Given the description of an element on the screen output the (x, y) to click on. 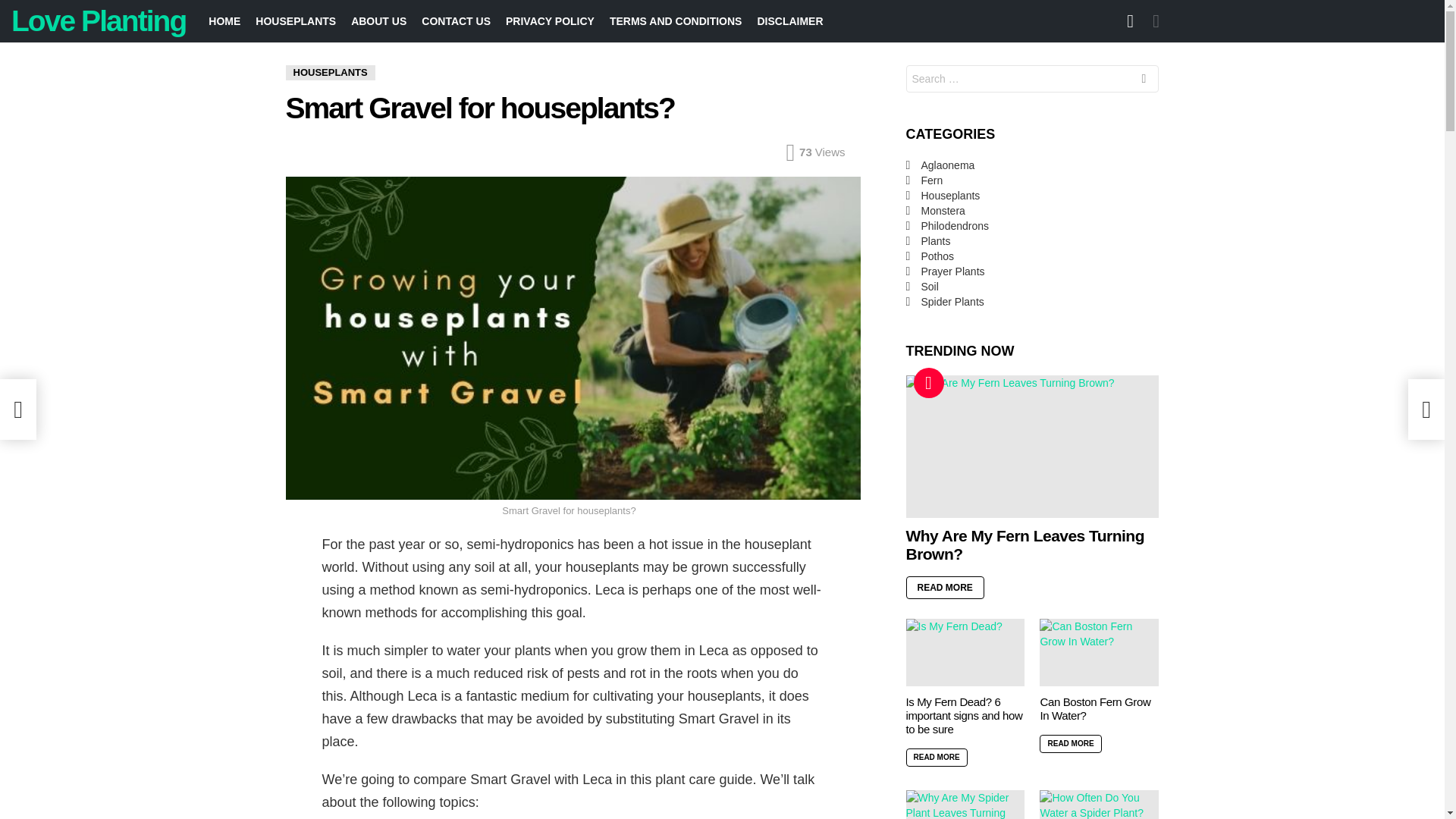
DISCLAIMER (789, 20)
ABOUT US (378, 20)
TERMS AND CONDITIONS (675, 20)
PRIVACY POLICY (549, 20)
HOME (223, 20)
HOUSEPLANTS (295, 20)
HOUSEPLANTS (329, 72)
Love Planting (98, 20)
SEARCH (1143, 80)
